Given the description of an element on the screen output the (x, y) to click on. 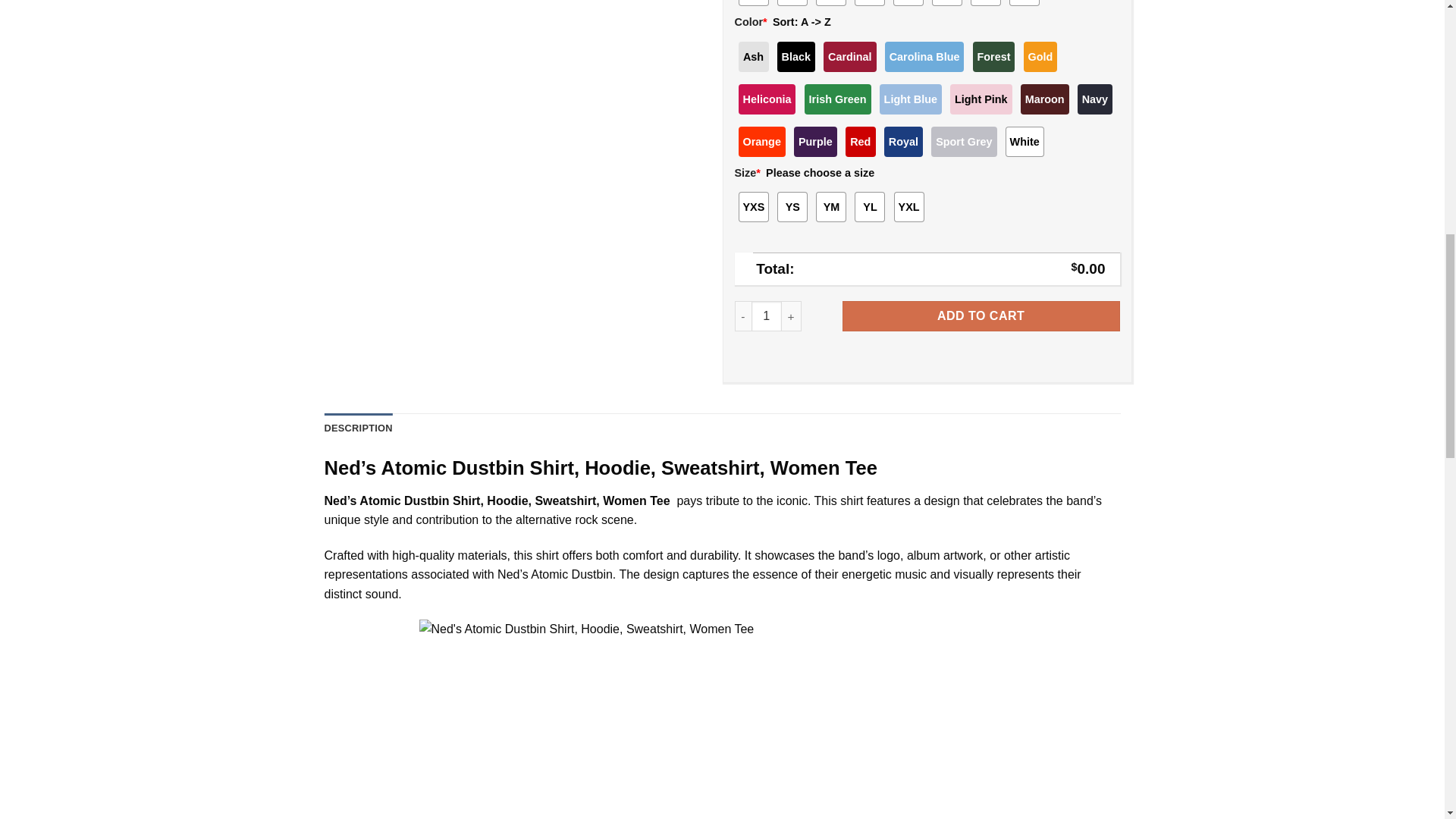
1 (766, 316)
ADD TO CART (981, 316)
DESCRIPTION (358, 428)
